Given the description of an element on the screen output the (x, y) to click on. 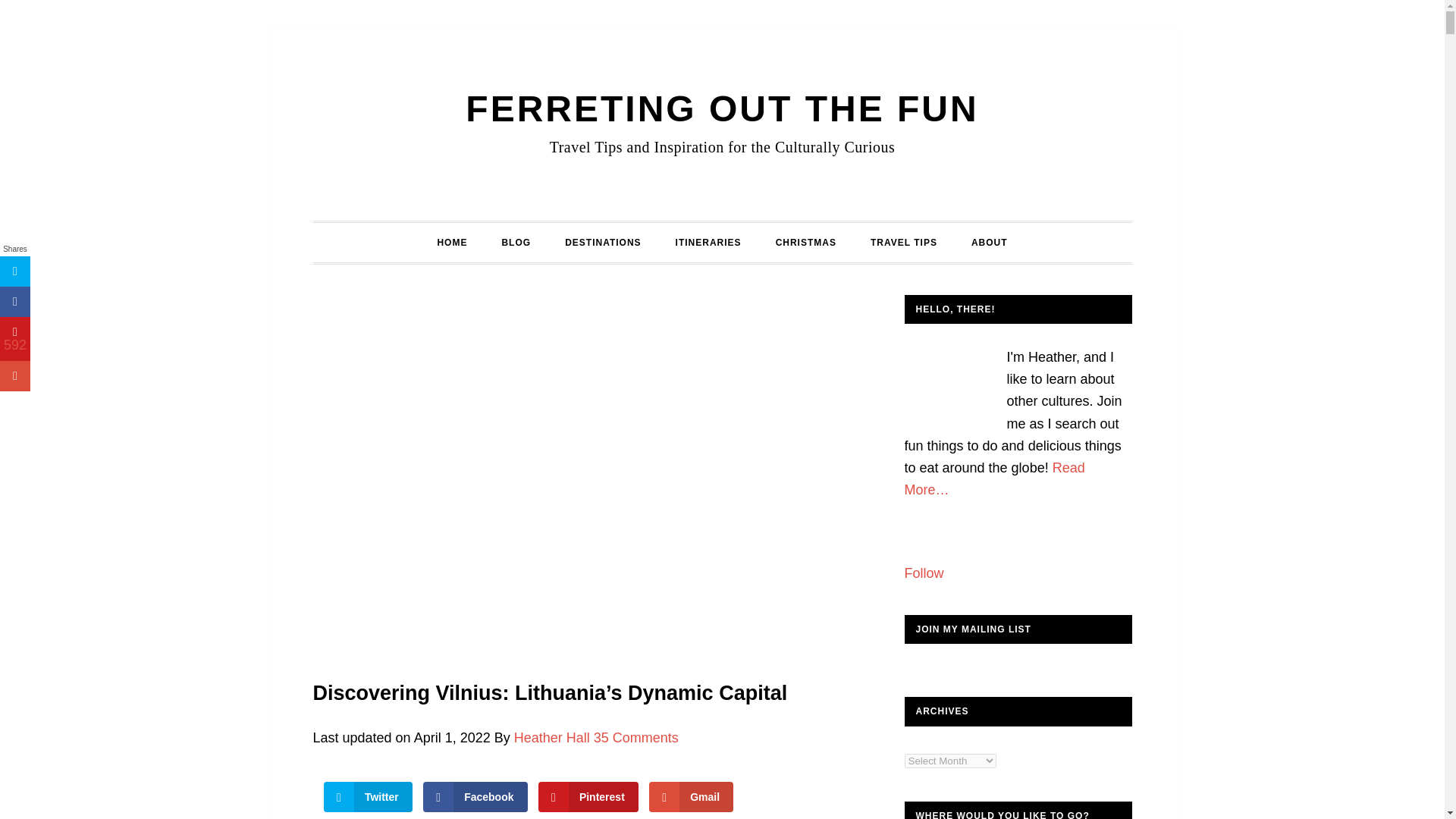
BLOG (516, 242)
FERRETING OUT THE FUN (721, 108)
DESTINATIONS (603, 242)
HOME (451, 242)
